Given the description of an element on the screen output the (x, y) to click on. 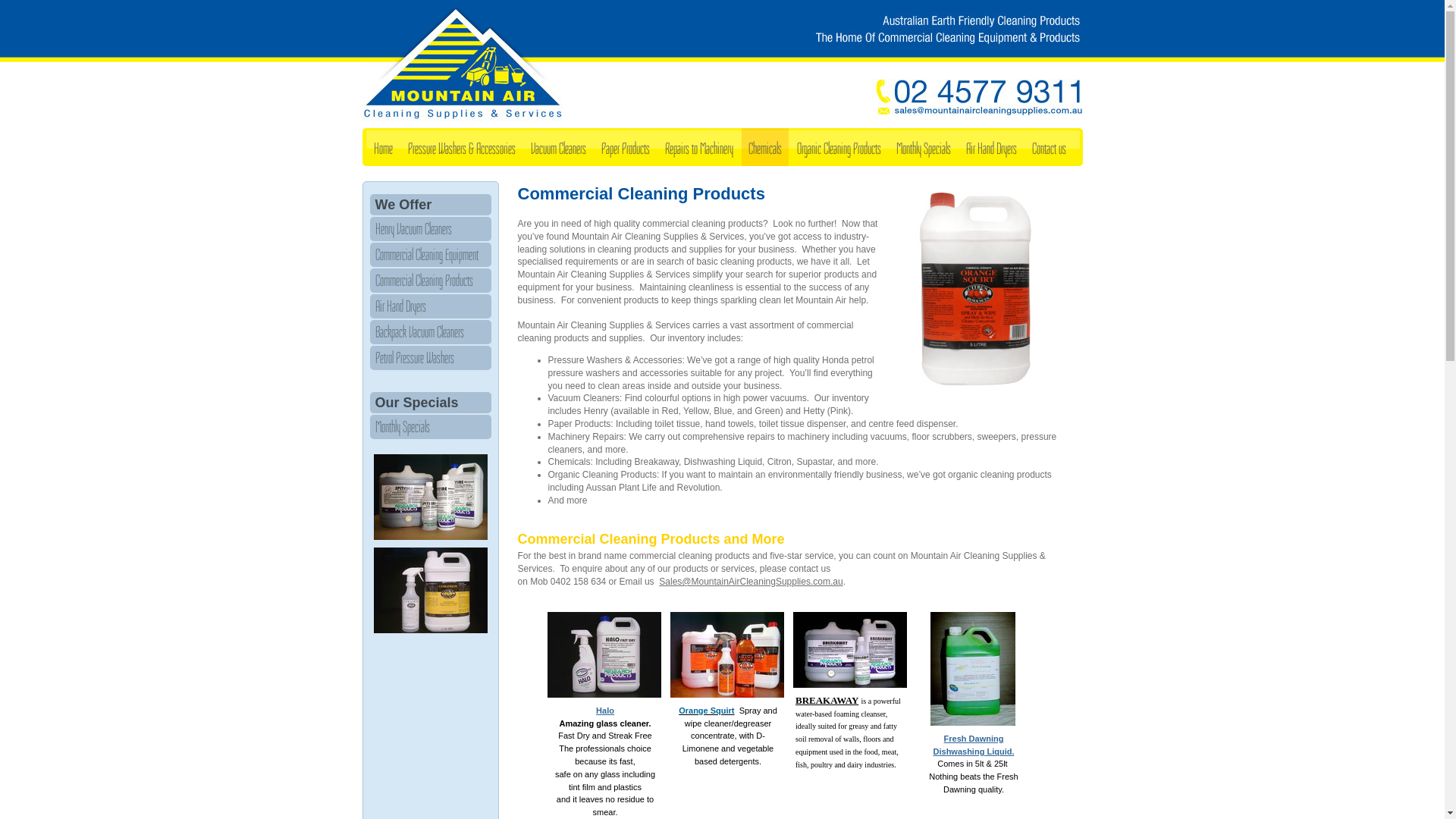
Repairs to Machinery Element type: text (699, 147)
Henry Vacuum Cleaners Element type: text (430, 228)
Sales@MountainAirCleaningSupplies.com.au Element type: text (750, 581)
Pressure Washers & Accessories Element type: text (460, 147)
Monthly Specials Element type: text (430, 426)
Air Hand Dryers Element type: text (430, 306)
Vacuum Cleaners Element type: text (557, 147)
Organic Cleaning Products Element type: text (839, 147)
Air Hand Dryers Element type: text (990, 147)
Monthly Specials Element type: text (922, 147)
Commercial Cleaning Products Element type: text (430, 280)
Chemicals Element type: text (764, 147)
Backpack Vacuum Cleaners Element type: text (430, 332)
Paper Products Element type: text (625, 147)
Petrol Pressure Washers Element type: text (430, 357)
Commercial Cleaning Equipment Element type: text (430, 254)
Home Element type: text (383, 147)
Contact us Element type: text (1049, 147)
